Given the description of an element on the screen output the (x, y) to click on. 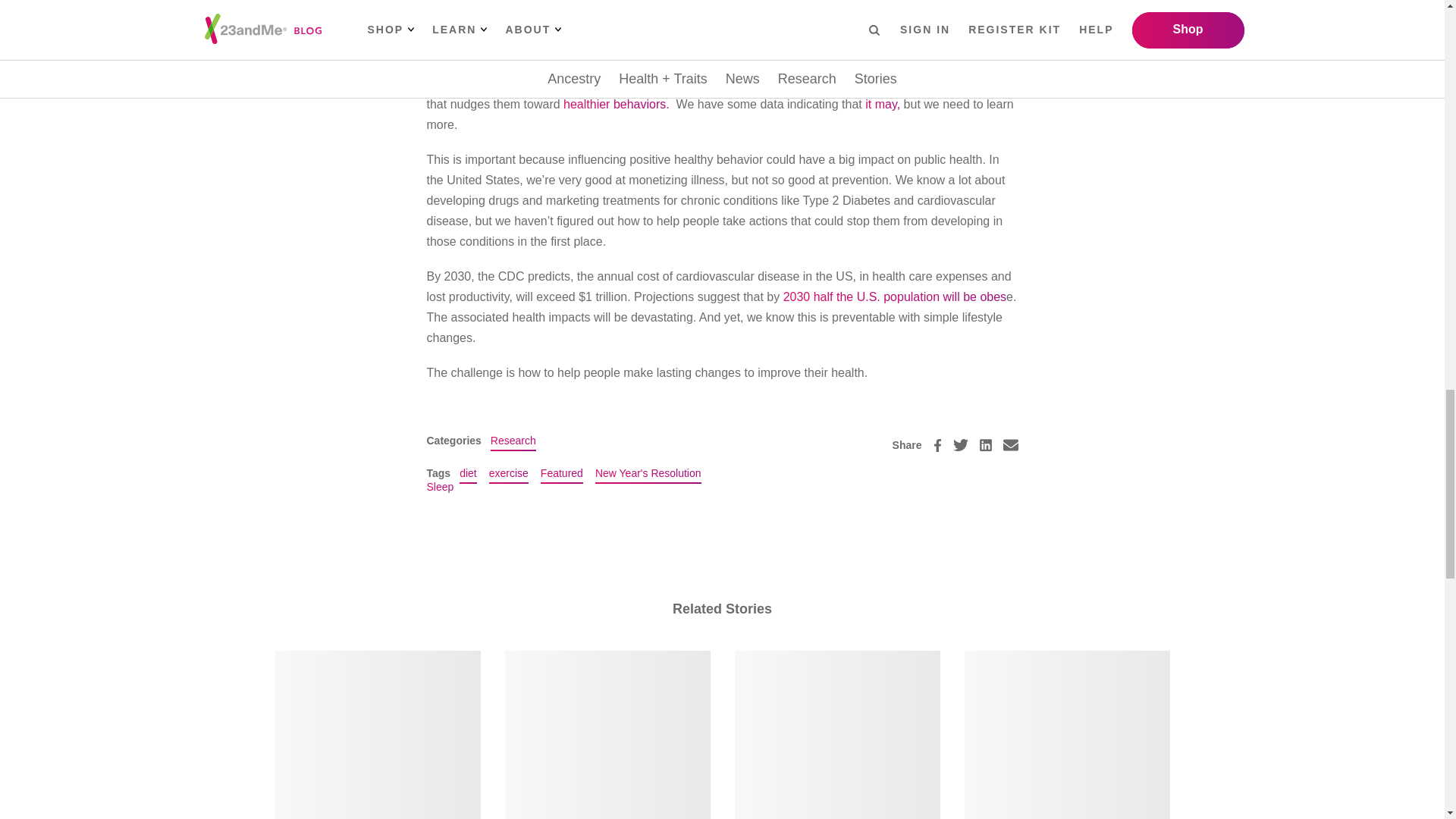
exercise (508, 473)
it may, (881, 103)
Research (512, 440)
diet (468, 473)
healthier behaviors. (616, 103)
2030 half the U.S. population will be obes (894, 296)
